Given the description of an element on the screen output the (x, y) to click on. 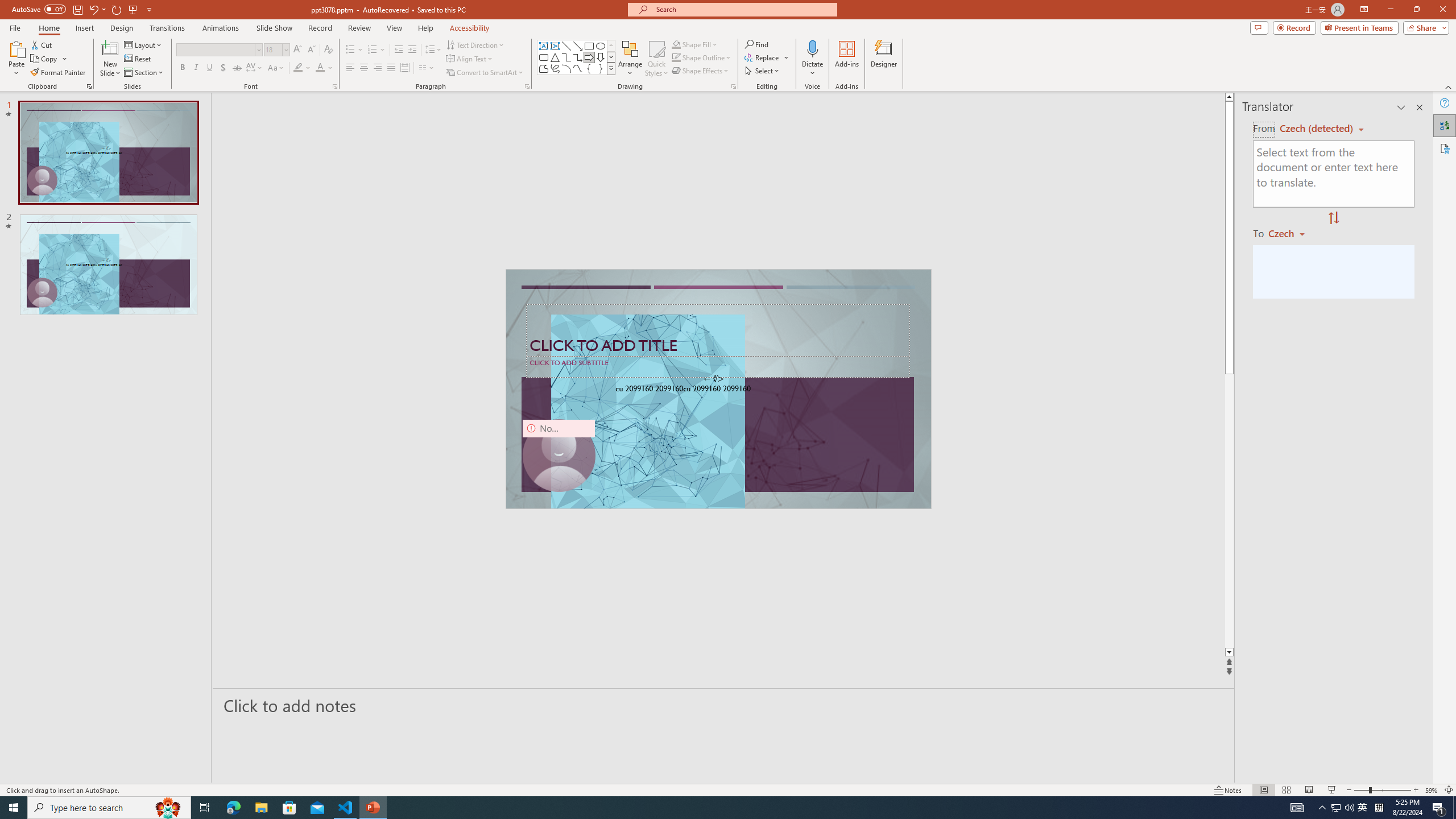
copilot-notconnected, Copilot error (click for details) (1001, 766)
Earth - Wikipedia (23, 448)
Google Chrome (729, 800)
Class: menubar compact overflow-menu-only (76, 183)
Class: next-menu next-hoz widgets--iconMenu--BFkiHRM (976, 114)
Toggle Primary Side Bar (Ctrl+B) (963, 150)
